Given the description of an element on the screen output the (x, y) to click on. 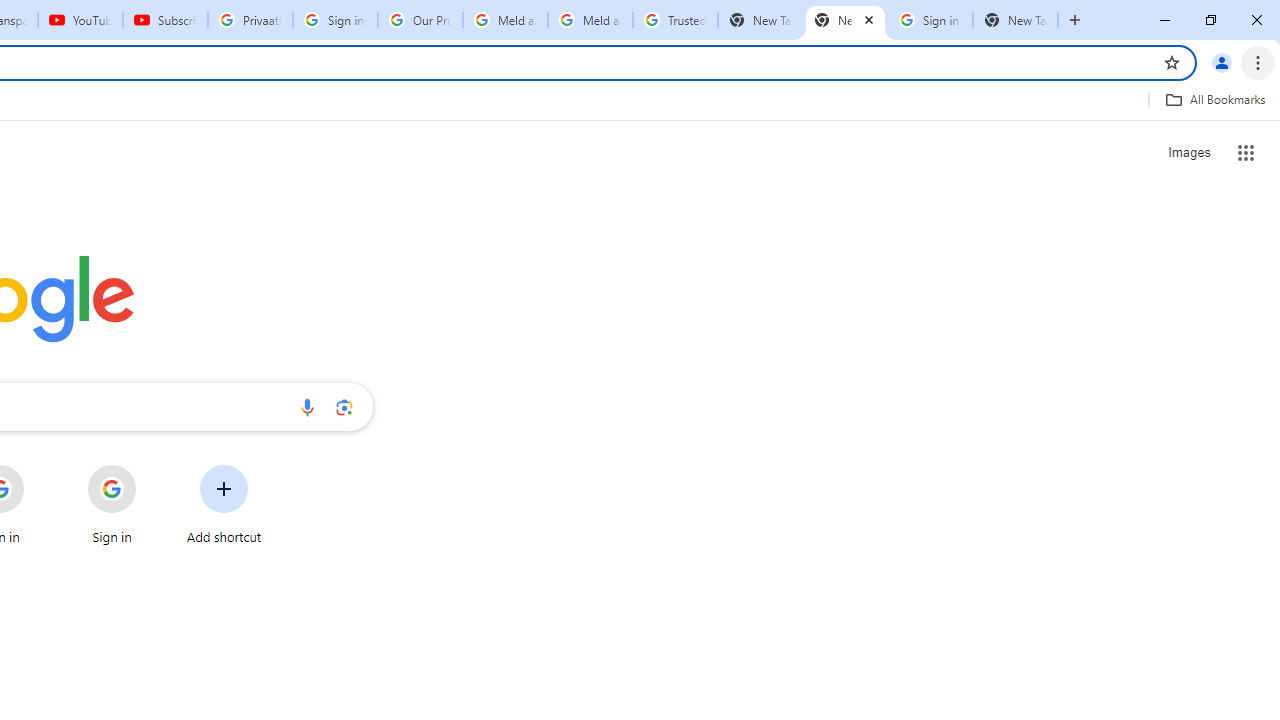
Sign in (111, 504)
You (1221, 62)
Minimize (1165, 20)
Sign in - Google Accounts (335, 20)
YouTube (80, 20)
Search for Images  (1188, 152)
Restore (1210, 20)
New Tab (1075, 20)
